Given the description of an element on the screen output the (x, y) to click on. 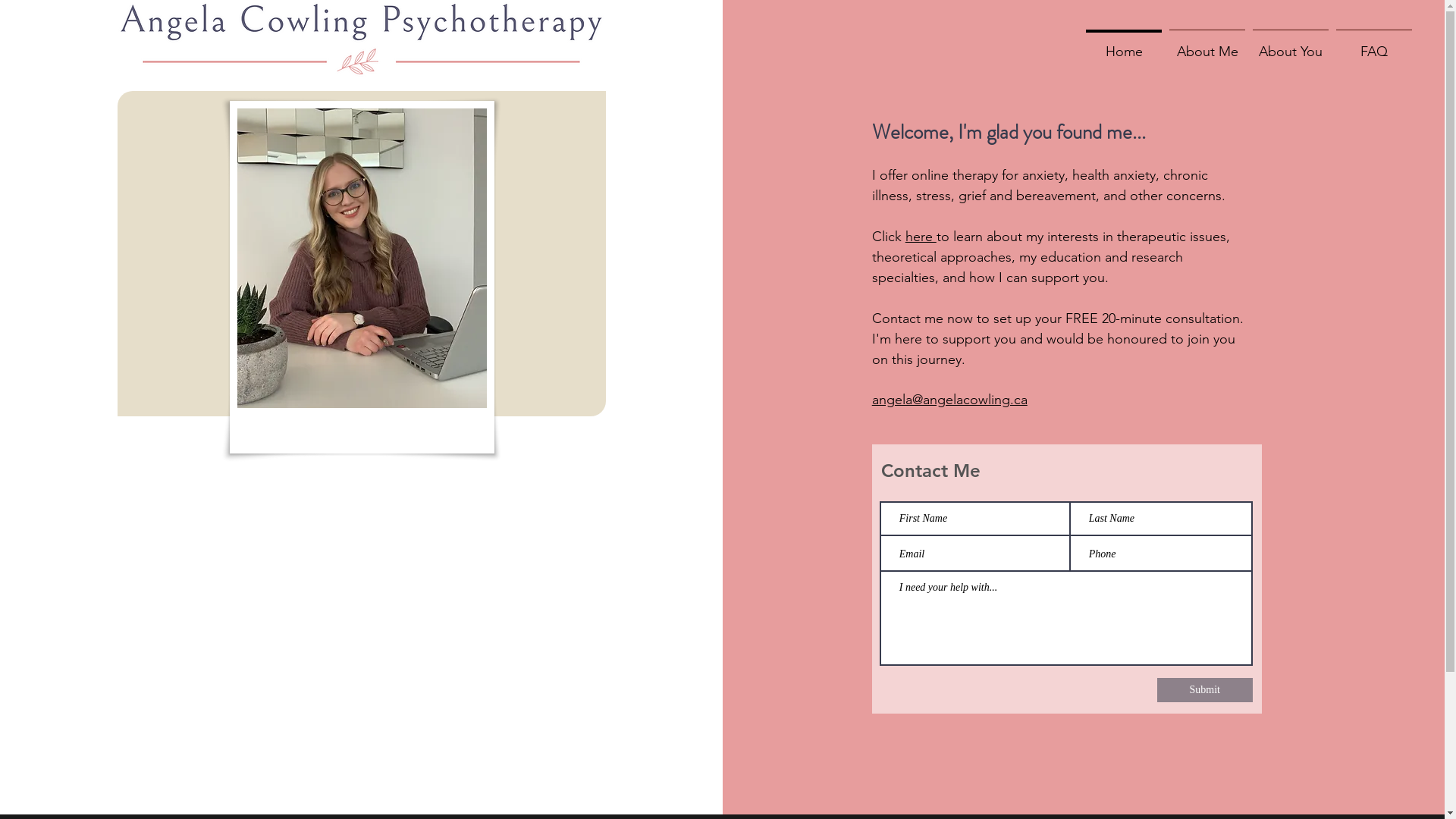
angela@angelacowling.ca Element type: text (949, 399)
here  Element type: text (920, 236)
Submit Element type: text (1204, 689)
About Me Element type: text (1206, 44)
FAQ Element type: text (1373, 44)
About You Element type: text (1290, 44)
Home Element type: text (1123, 44)
